Given the description of an element on the screen output the (x, y) to click on. 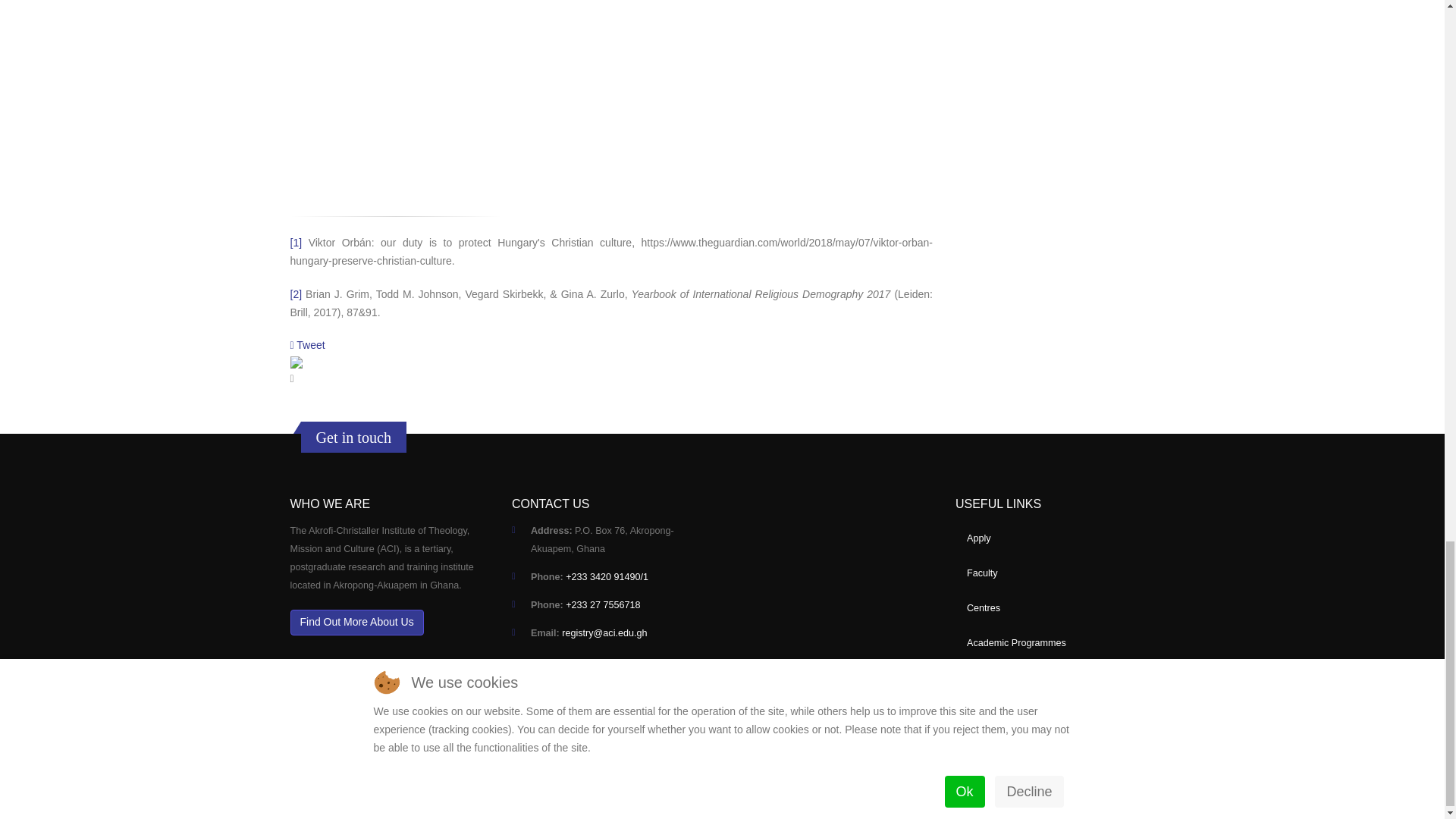
Website By Eight28.com (358, 777)
